Given the description of an element on the screen output the (x, y) to click on. 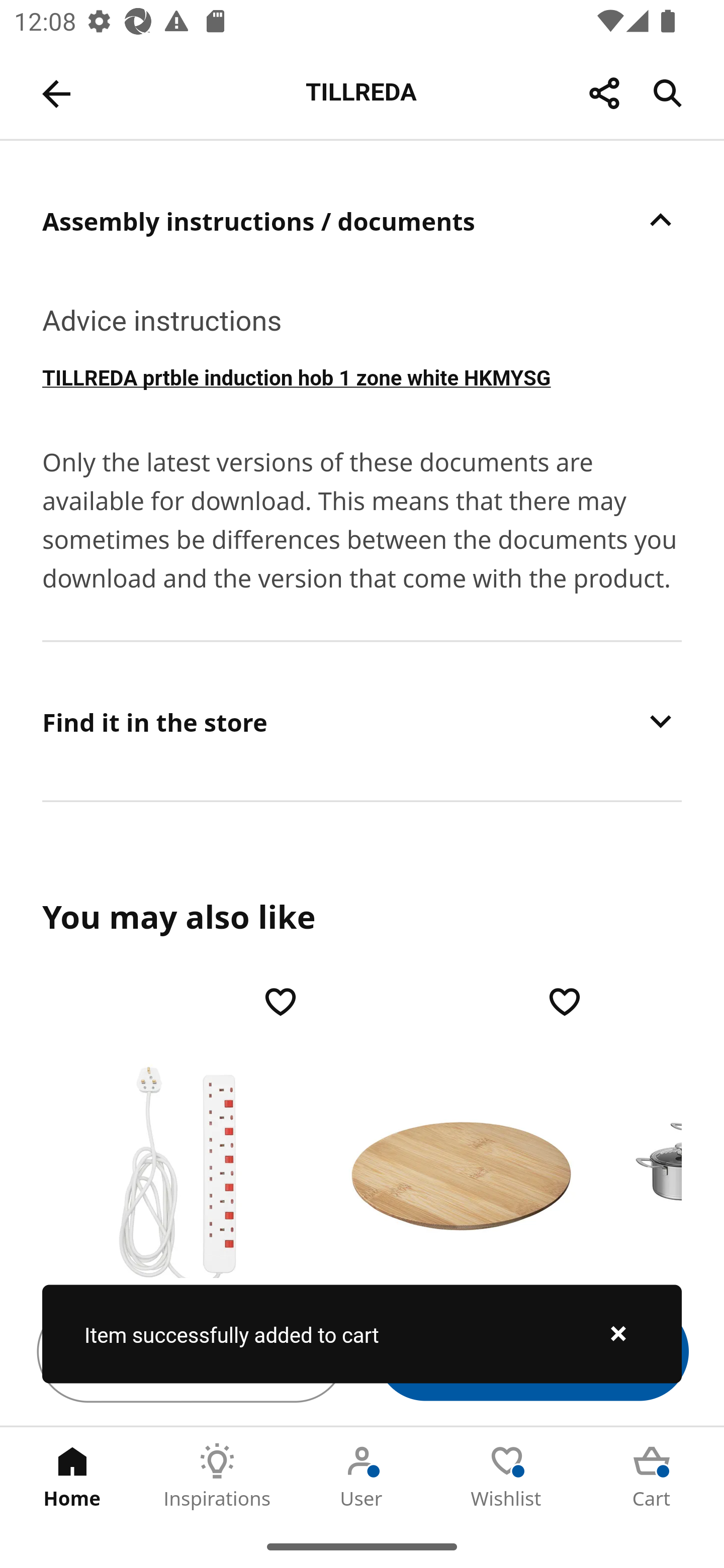
Assembly instructions / documents (361, 219)
TILLREDA prtble induction hob 1 zone white HKMYSG (361, 376)
Find it in the store (361, 721)
Item successfully added to cart (361, 1333)
Home
Tab 1 of 5 (72, 1476)
Inspirations
Tab 2 of 5 (216, 1476)
User
Tab 3 of 5 (361, 1476)
Wishlist
Tab 4 of 5 (506, 1476)
Cart
Tab 5 of 5 (651, 1476)
